Given the description of an element on the screen output the (x, y) to click on. 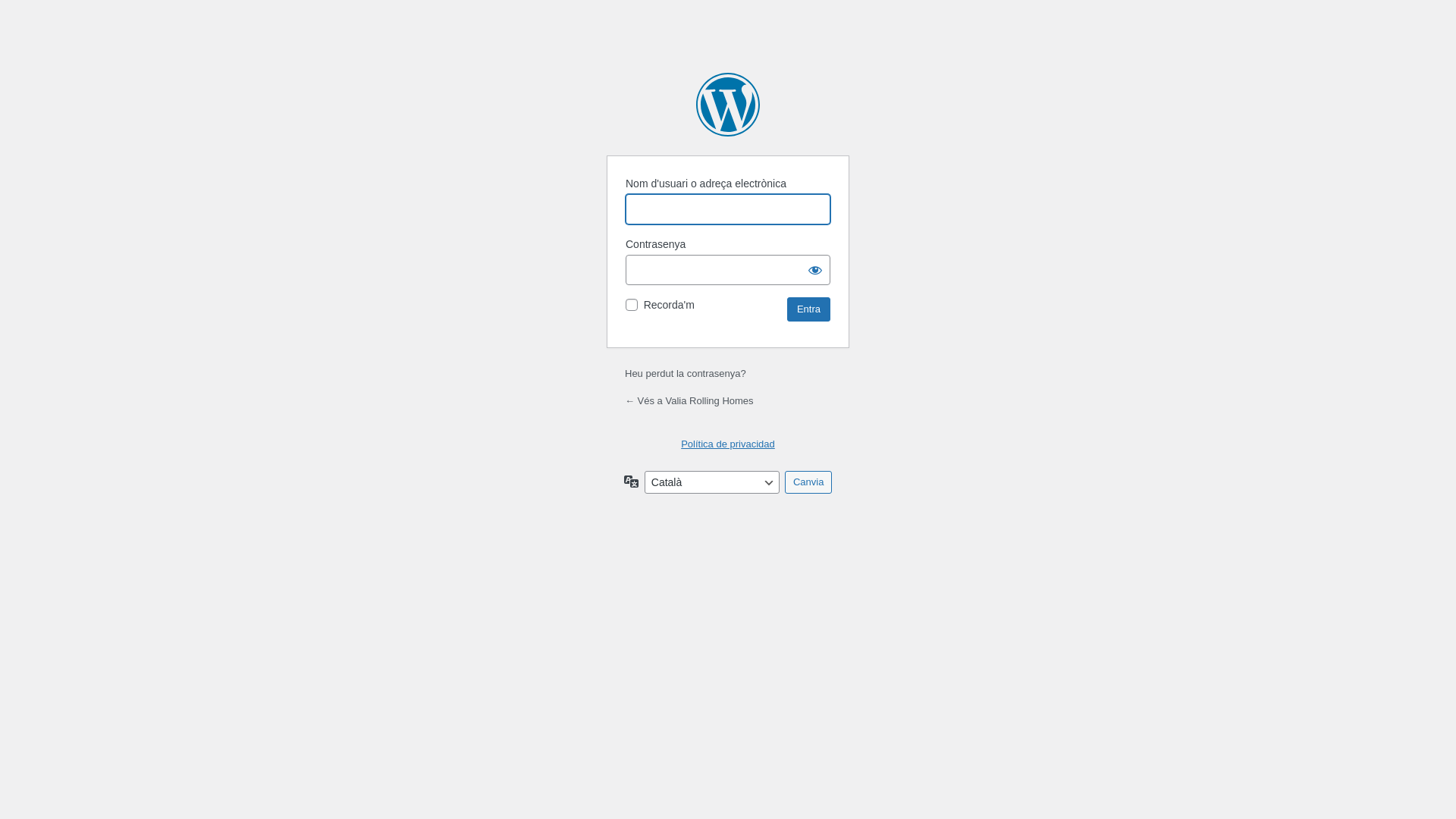
Heu perdut la contrasenya? Element type: text (685, 373)
Funcionant amb el WordPress Element type: text (727, 104)
Entra Element type: text (808, 309)
Canvia Element type: text (807, 481)
